Given the description of an element on the screen output the (x, y) to click on. 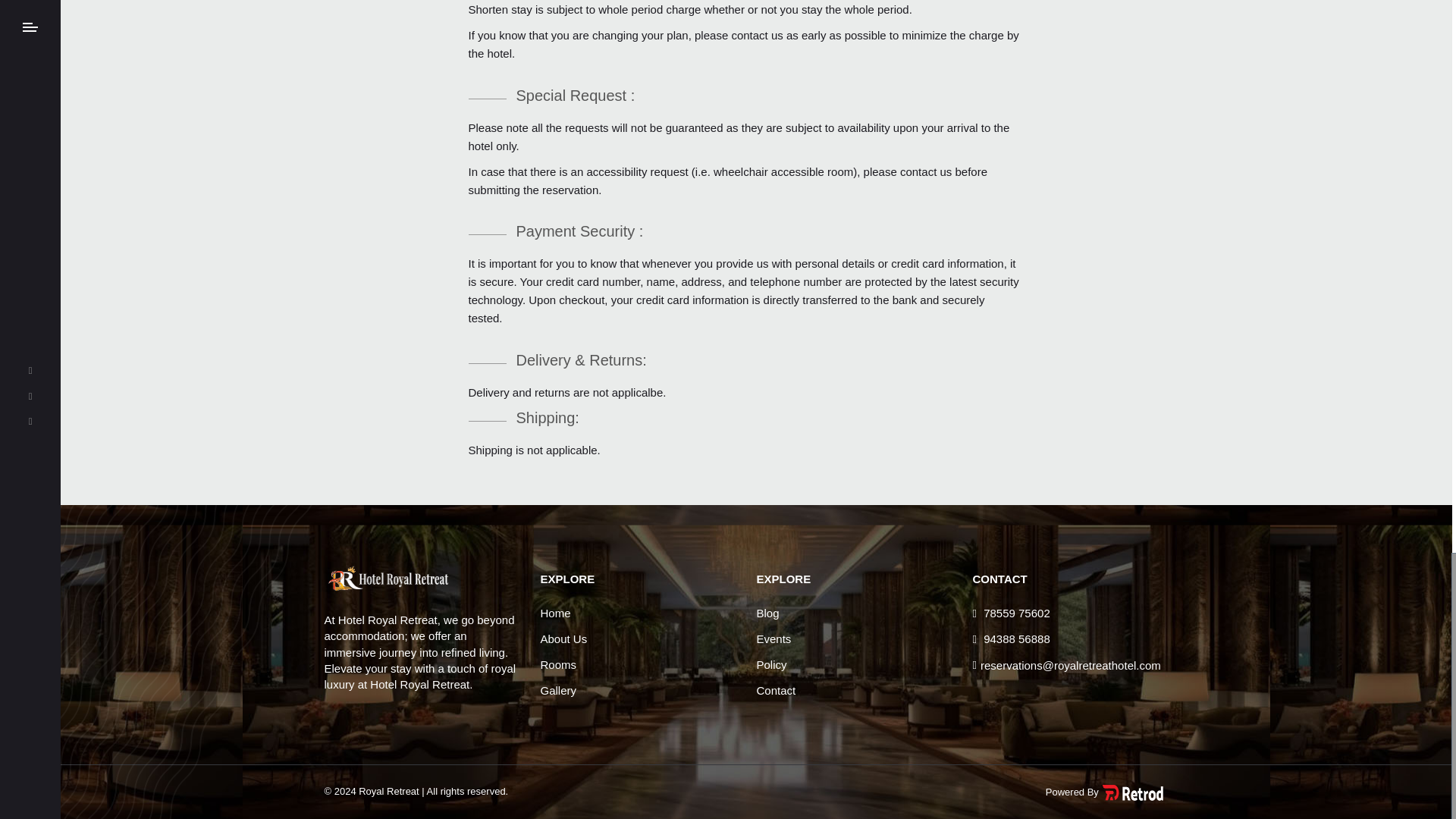
Events (774, 638)
78559 75602 (1010, 613)
94388 56888 (1010, 638)
About Us (563, 638)
Gallery (558, 690)
Contact (776, 690)
Rooms (558, 664)
Home (555, 613)
Policy (772, 664)
